Given the description of an element on the screen output the (x, y) to click on. 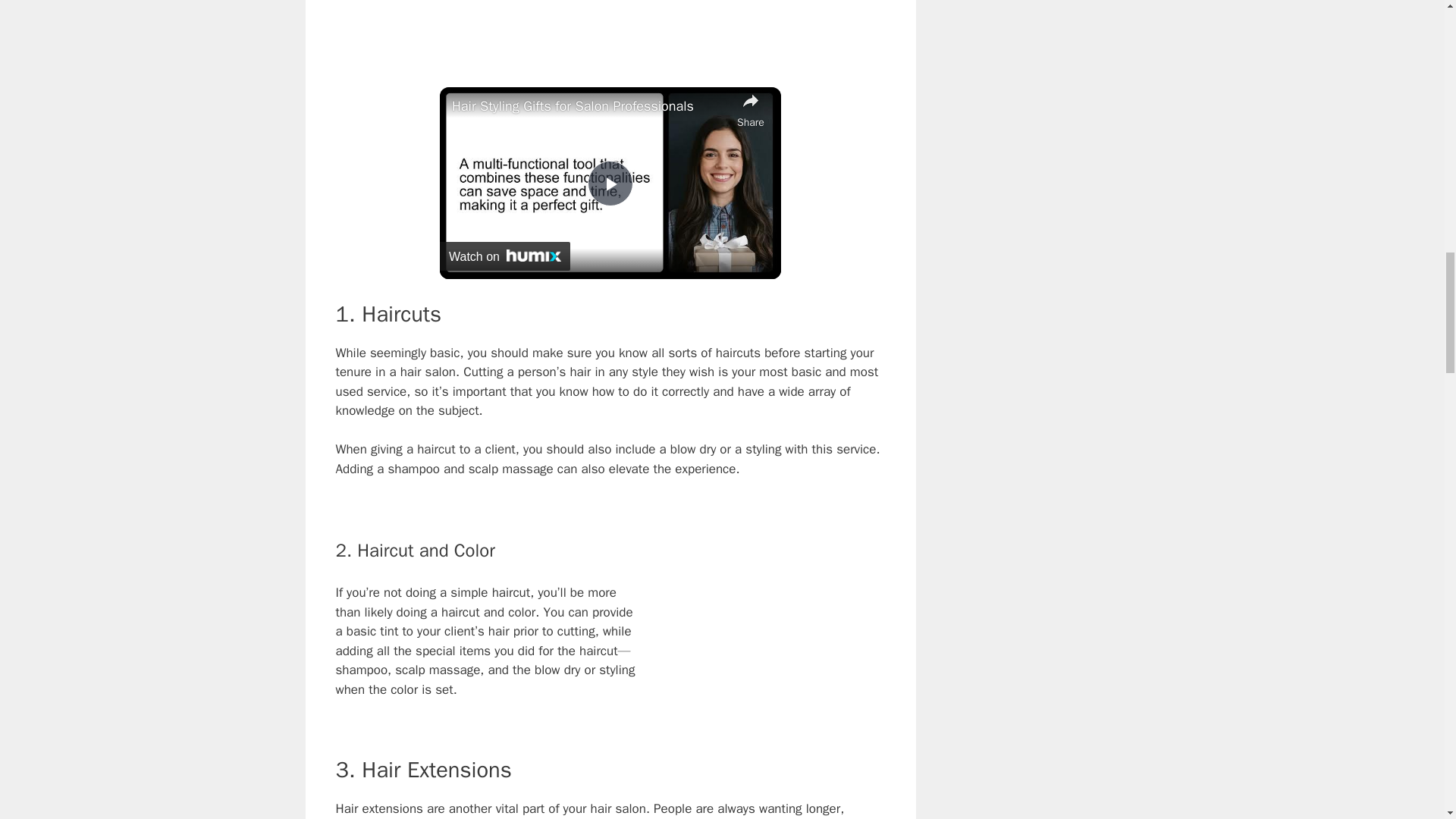
Hair Styling Gifts for Salon Professionals (590, 106)
Play Video (610, 183)
